Given the description of an element on the screen output the (x, y) to click on. 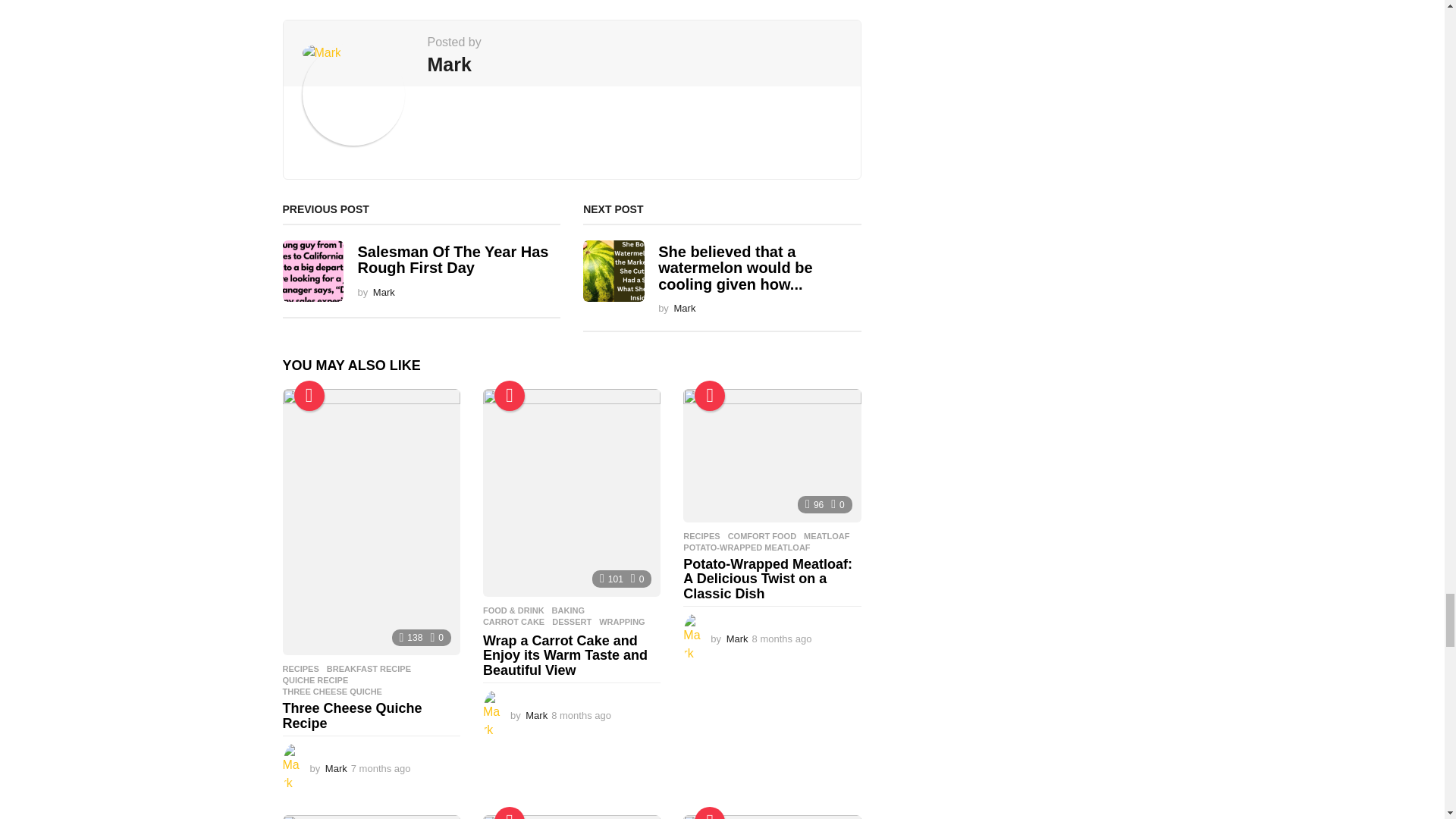
Breakfast for Dinner Recipes (371, 816)
Popular (309, 395)
Hot (709, 812)
Popular (509, 812)
Delicious Potato Recipes to Try at Home (572, 816)
Popular (509, 395)
Potato-Wrapped Meatloaf: A Delicious Twist on a Classic Dish (771, 455)
Popular (709, 395)
